Given the description of an element on the screen output the (x, y) to click on. 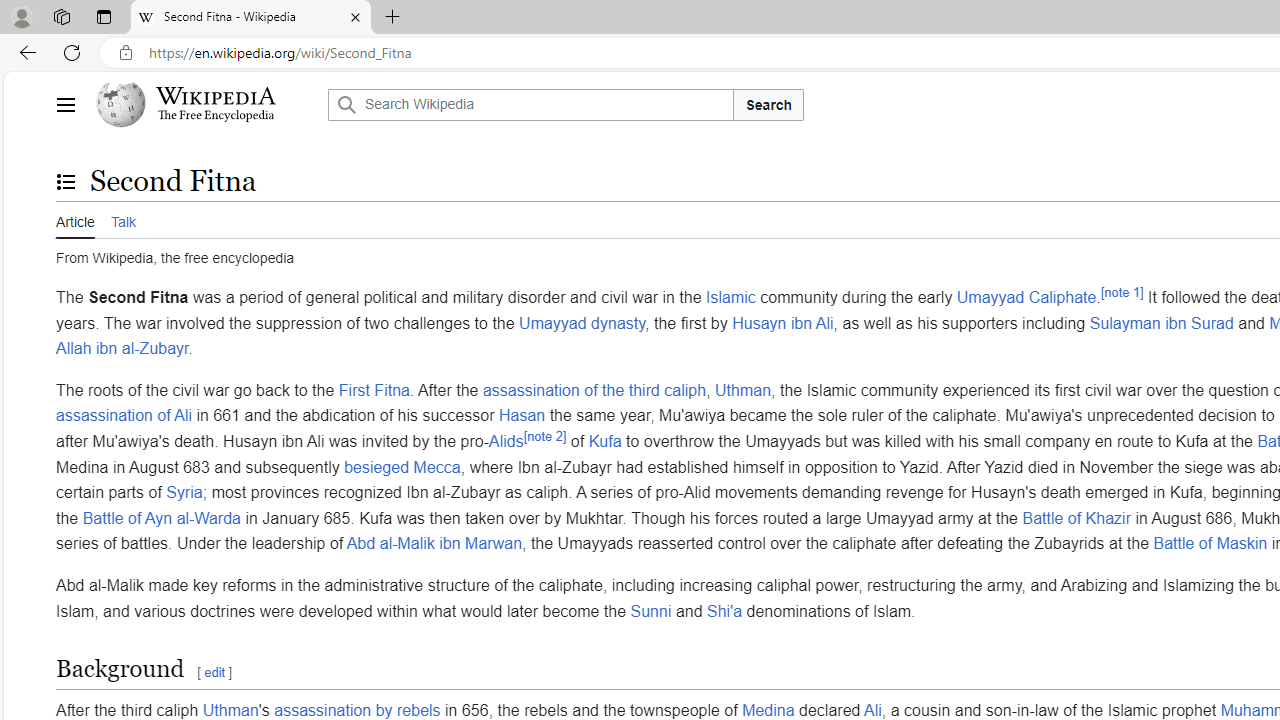
Second Fitna - Wikipedia (250, 17)
